Given the description of an element on the screen output the (x, y) to click on. 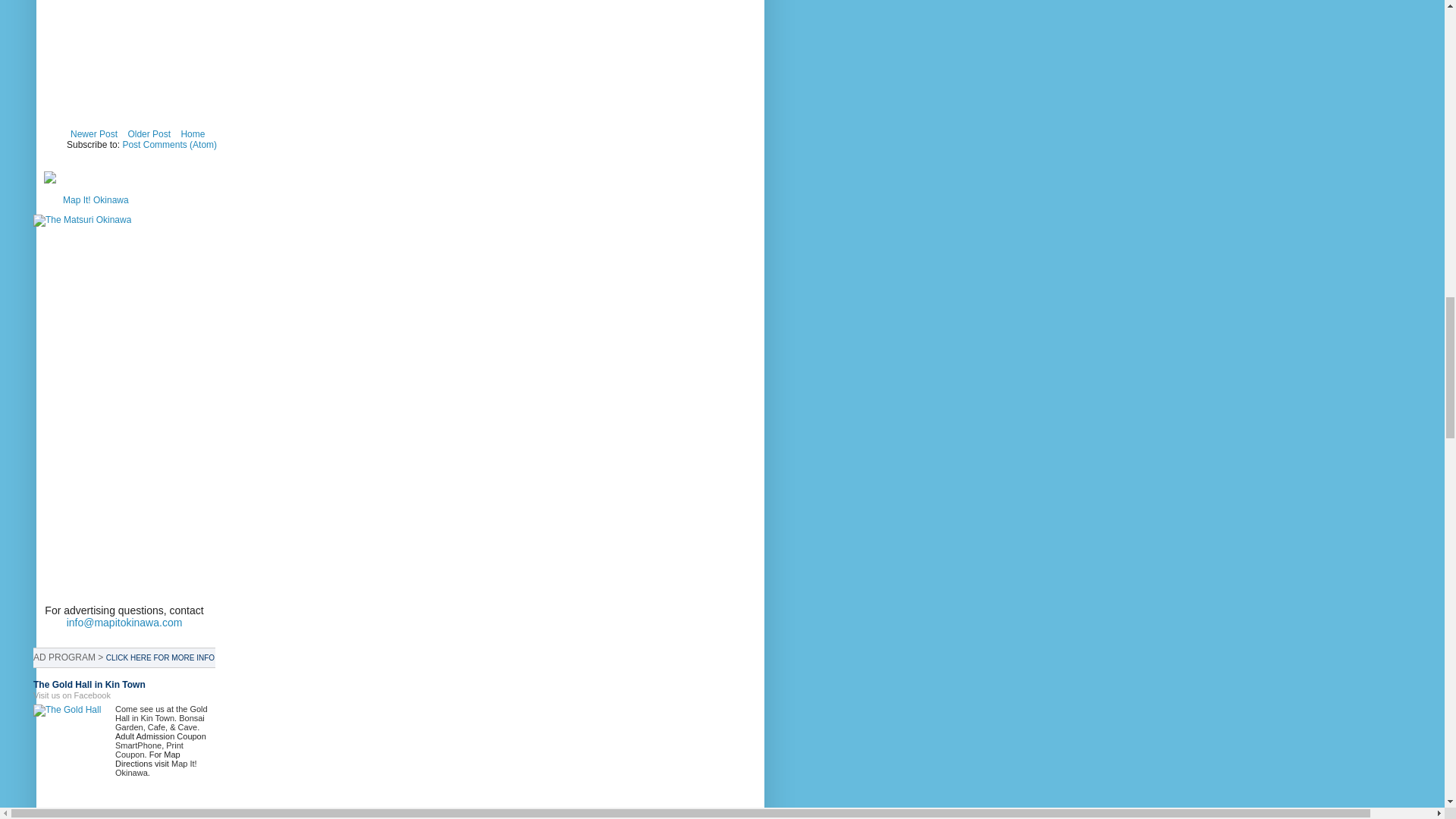
Home (192, 134)
Newer Post (93, 134)
Older Post (148, 134)
Older Post (148, 134)
Newer Post (93, 134)
